Given the description of an element on the screen output the (x, y) to click on. 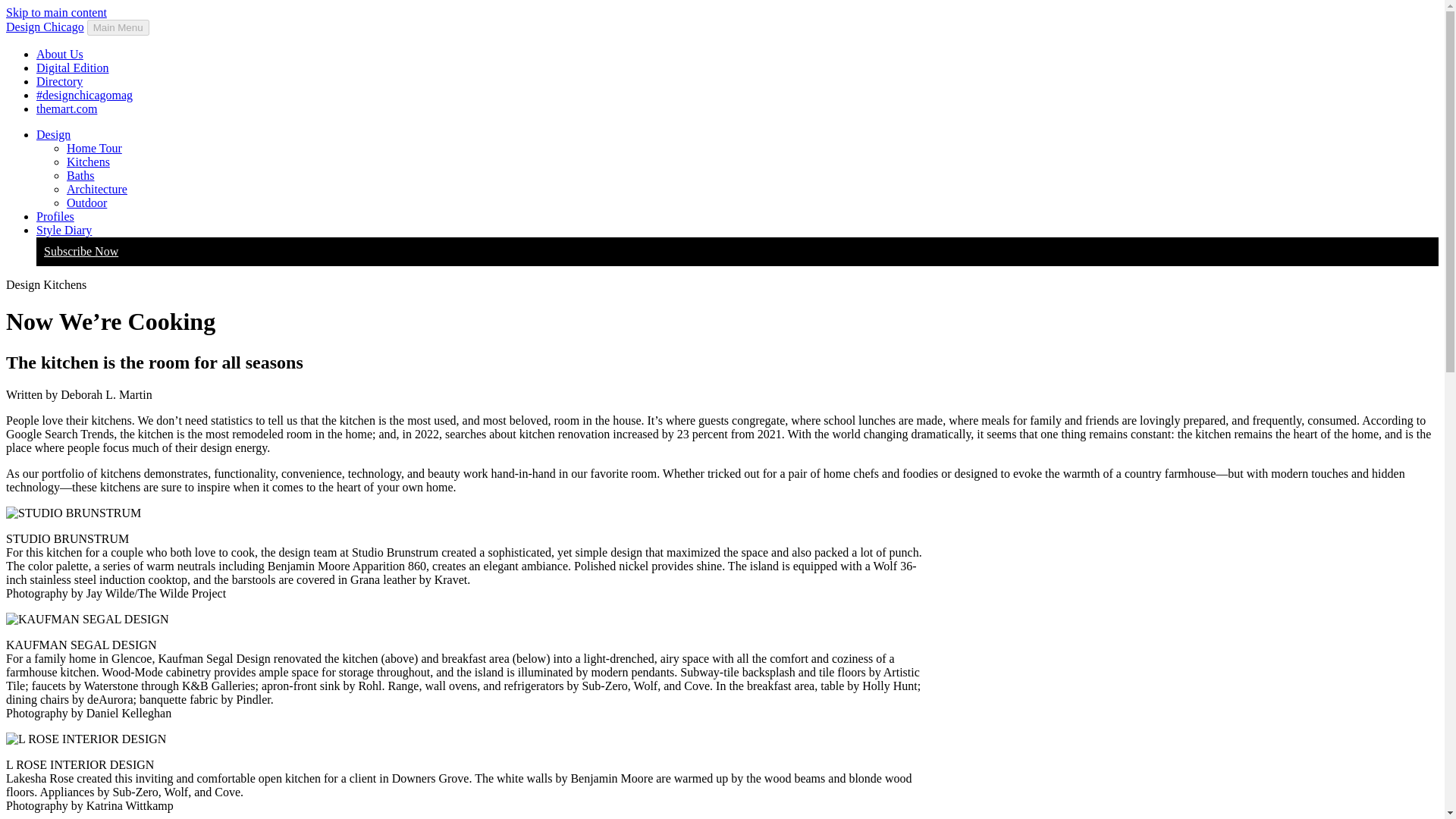
Design Chicago home page (44, 26)
Profiles (55, 215)
Style Diary (63, 229)
Outdoor (86, 202)
Subscribe Now (80, 250)
Directory (59, 81)
Design (52, 133)
Design Chicago (44, 26)
Digital Edition (72, 67)
Architecture (97, 188)
themart.com (66, 108)
Show Main Menu (118, 27)
Home Tour (94, 147)
Skip to main content (55, 11)
About Us (59, 53)
